Given the description of an element on the screen output the (x, y) to click on. 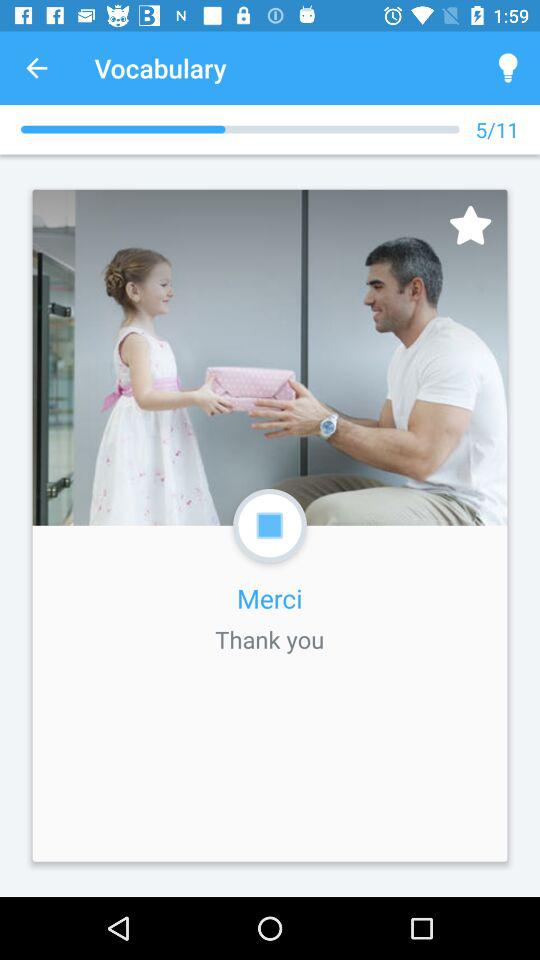
press icon below the 5/11 item (470, 224)
